Given the description of an element on the screen output the (x, y) to click on. 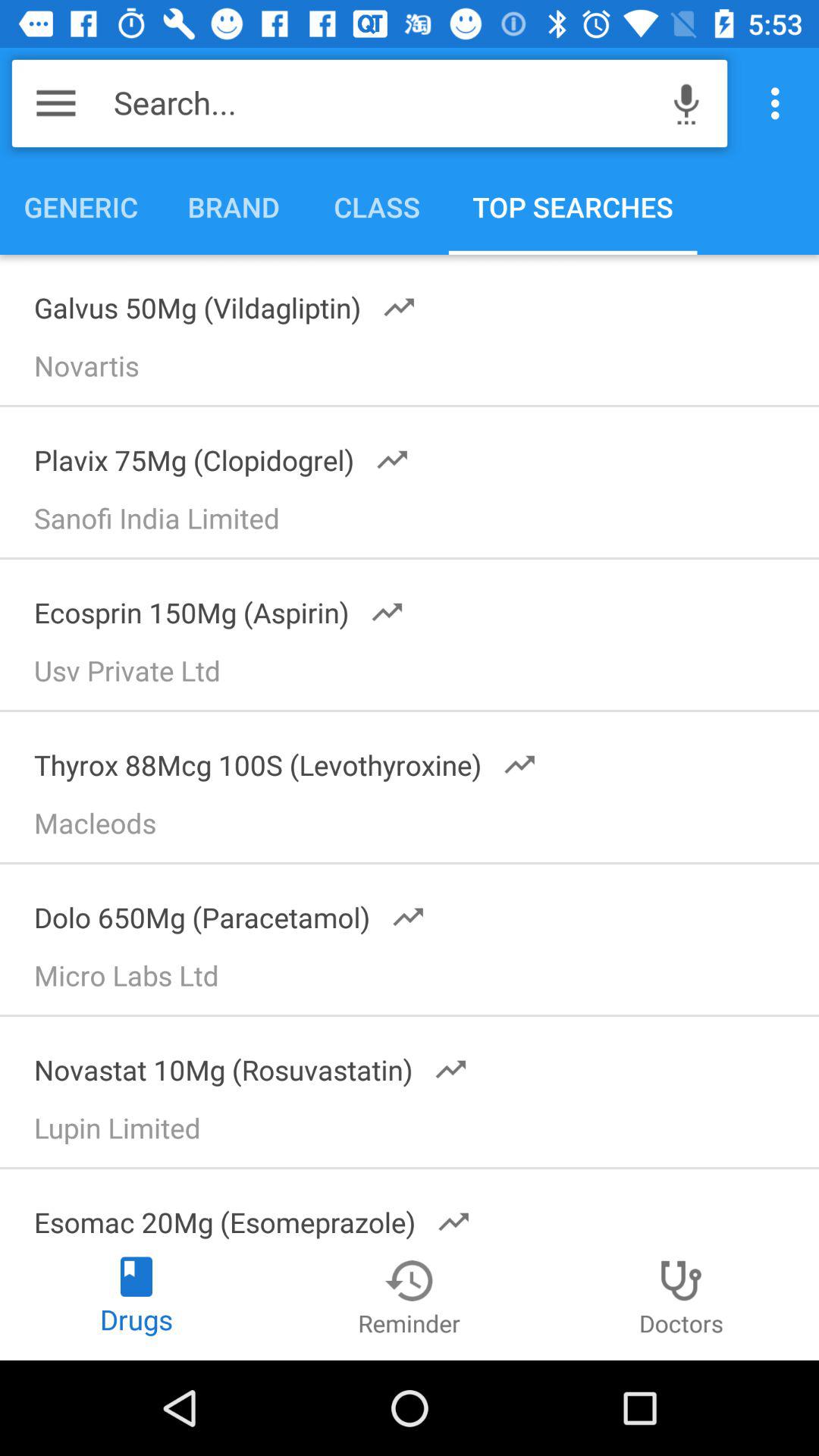
turn off the esomac 20mg (esomeprazole) icon (242, 1212)
